Given the description of an element on the screen output the (x, y) to click on. 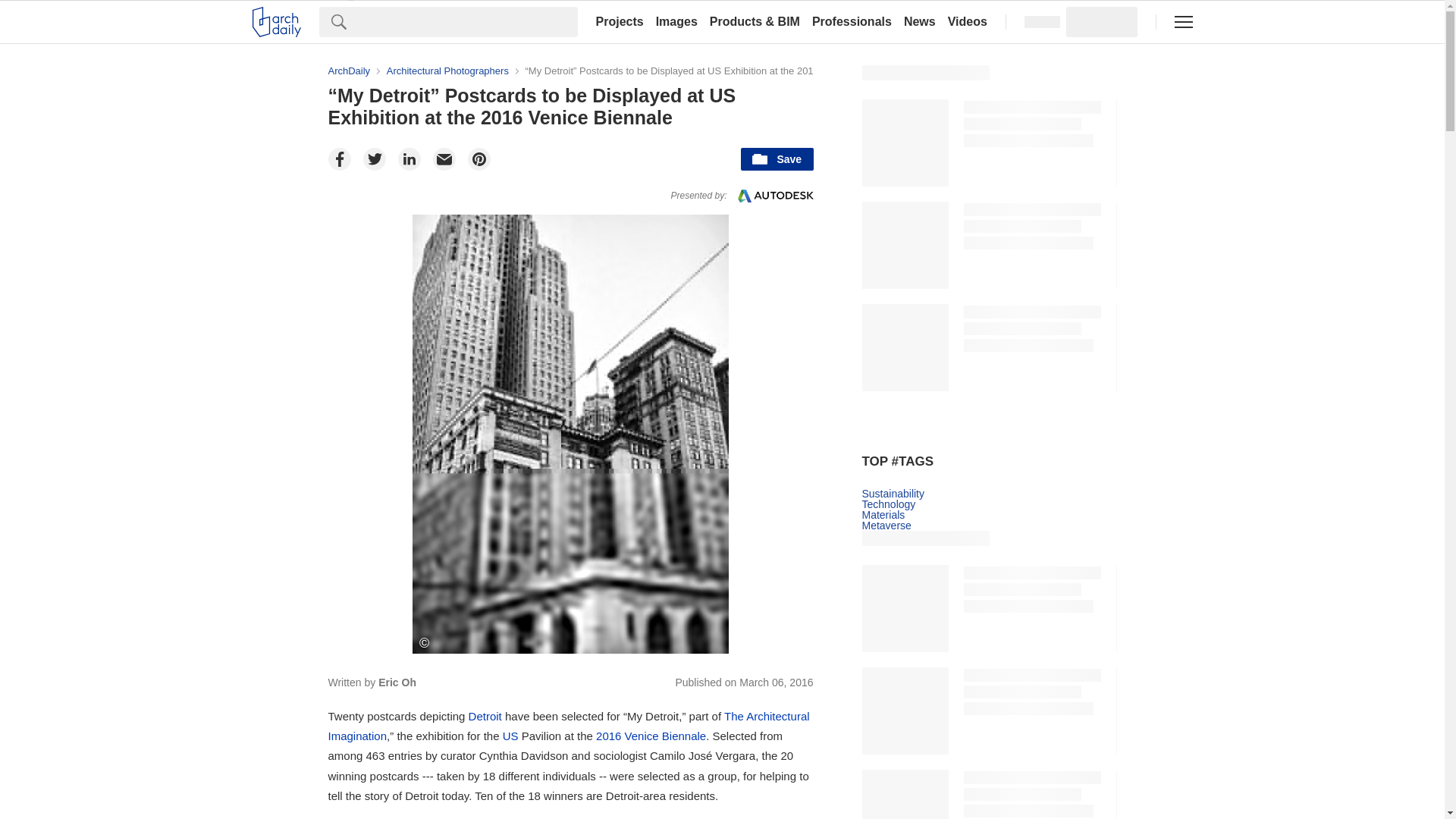
News (920, 21)
Professionals (852, 21)
Projects (619, 21)
Videos (967, 21)
Images (676, 21)
